Given the description of an element on the screen output the (x, y) to click on. 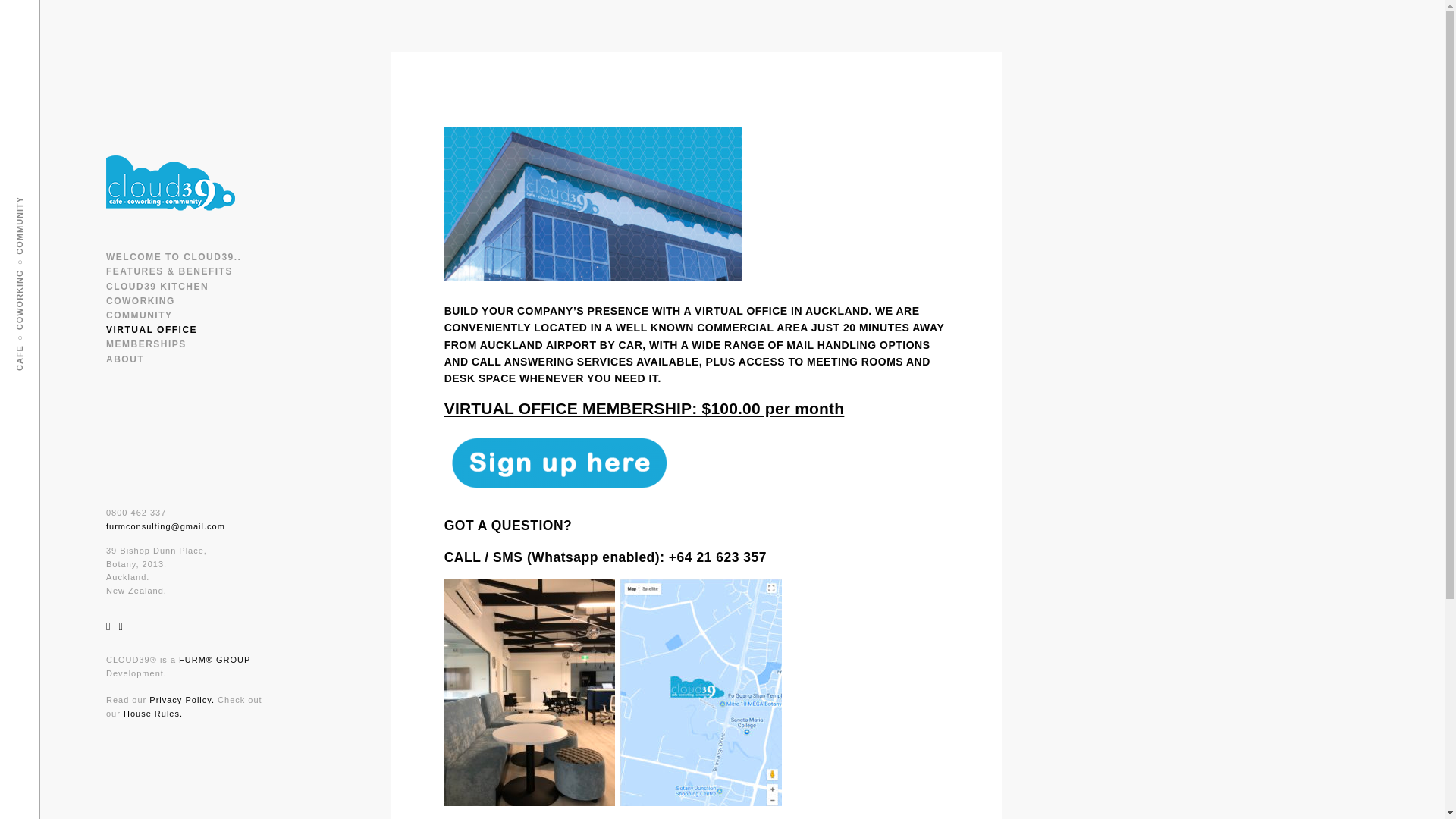
WELCOME TO CLOUD39.. (173, 256)
House Rules. (153, 713)
MEMBERSHIPS (146, 344)
Privacy Policy. (181, 699)
COMMUNITY (139, 315)
VIRTUAL OFFICE (151, 329)
ABOUT (125, 357)
CLOUD39 KITCHEN (157, 286)
COWORKING (140, 300)
